Given the description of an element on the screen output the (x, y) to click on. 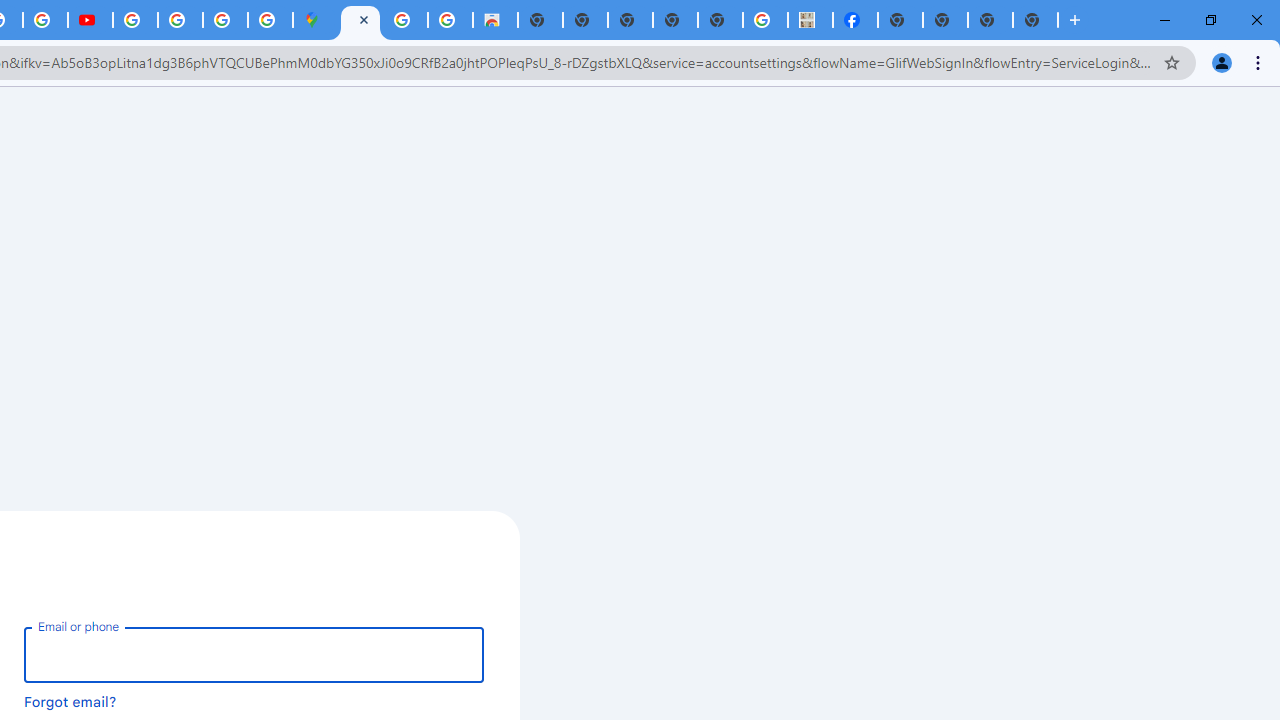
How Chrome protects your passwords - Google Chrome Help (134, 20)
Restore (1210, 20)
You (1221, 62)
Minimize (1165, 20)
MILEY CYRUS. (810, 20)
